Given the description of an element on the screen output the (x, y) to click on. 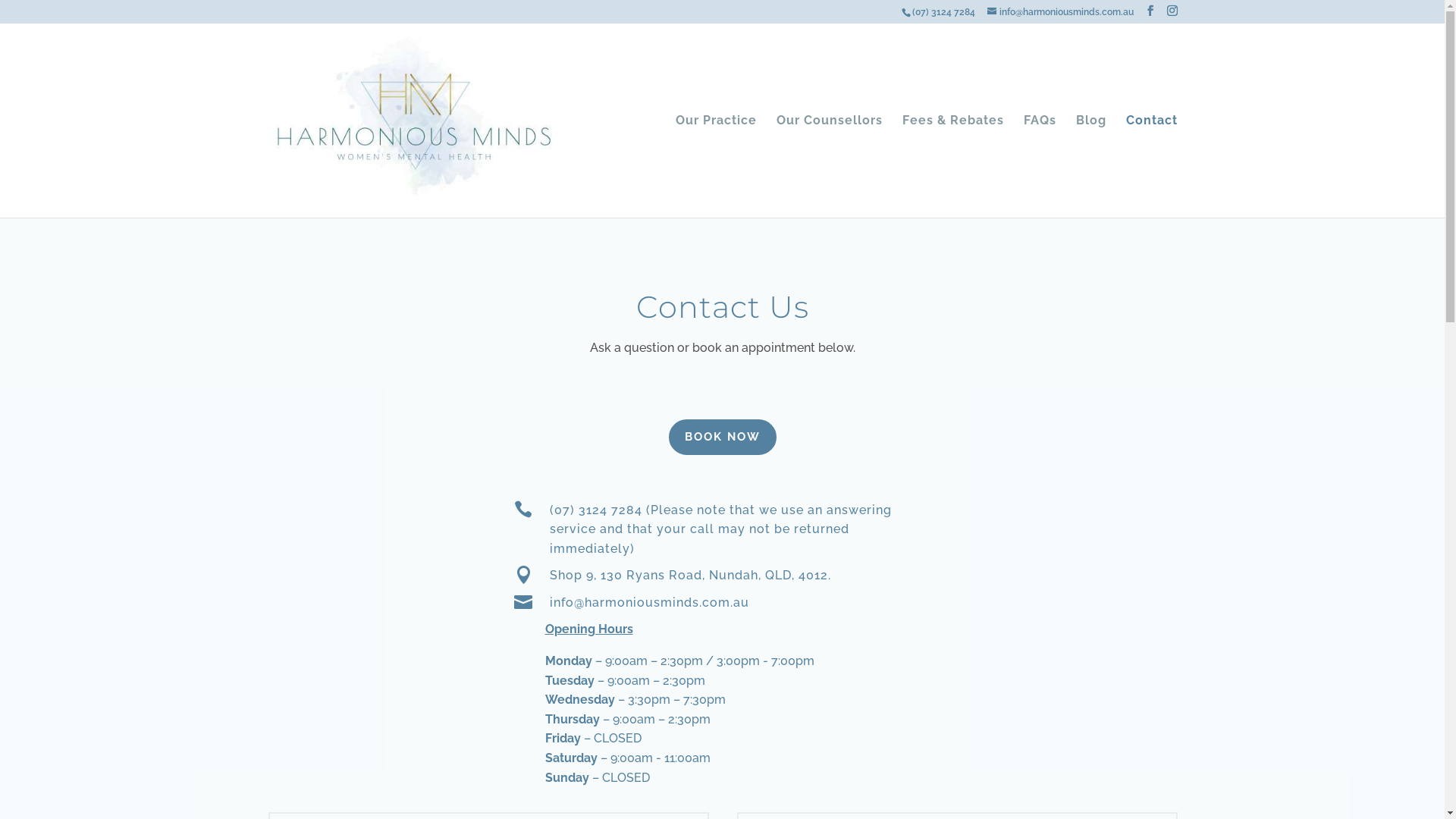
Our Counsellors Element type: text (829, 166)
BOOK NOW Element type: text (722, 437)
info@harmoniousminds.com.au Element type: text (1060, 11)
Blog Element type: text (1090, 166)
Our Practice Element type: text (715, 166)
FAQs Element type: text (1039, 166)
Fees & Rebates Element type: text (953, 166)
Contact Element type: text (1150, 166)
